Given the description of an element on the screen output the (x, y) to click on. 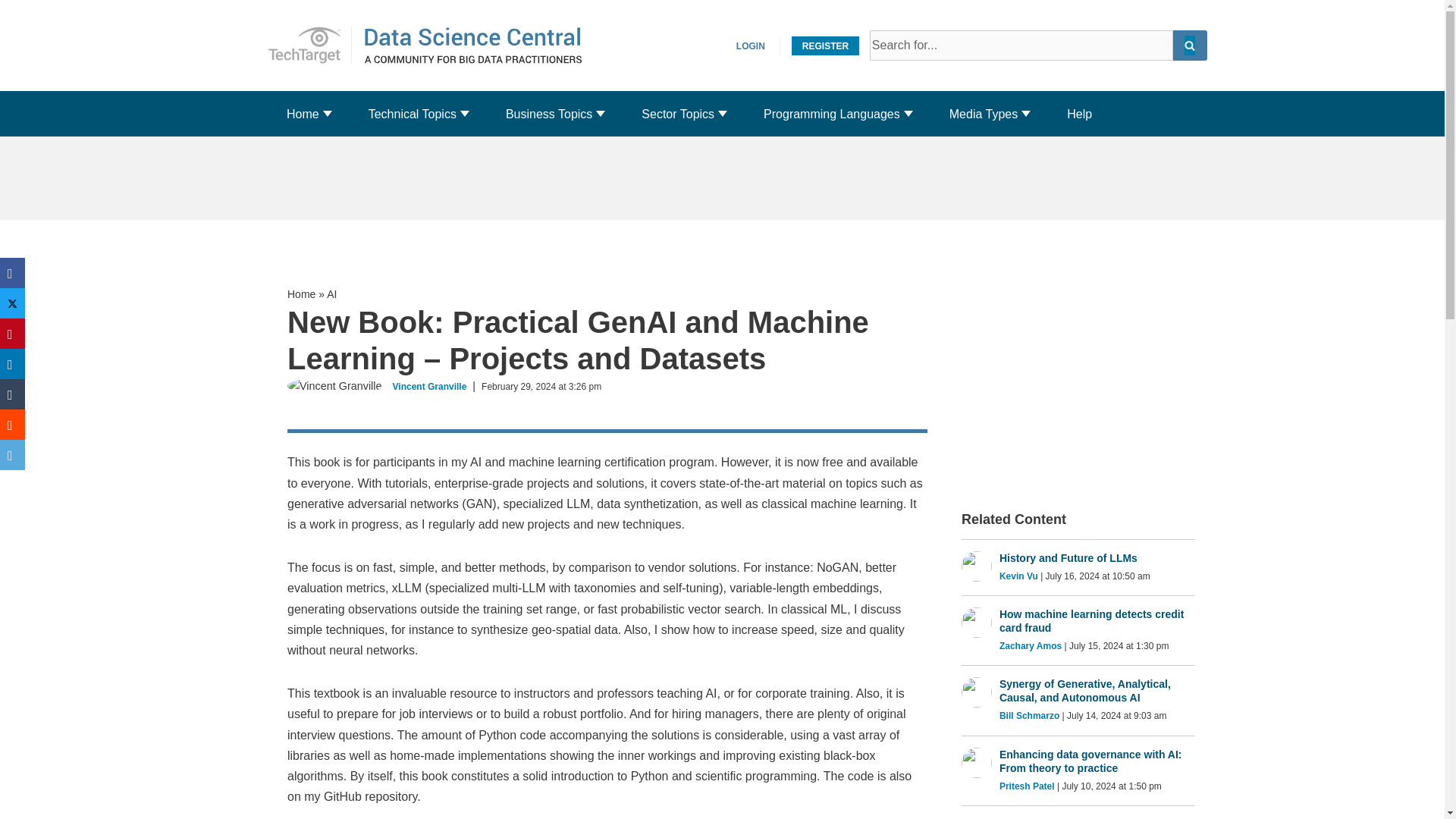
Synergy of Generative, Analytical, Causal, and Autonomous AI (1096, 690)
How machine learning detects credit card fraud (1096, 620)
Home (302, 114)
History and Future of LLMs (1096, 558)
Skip to content (11, 31)
Posts by Vincent Granville (430, 386)
Business Topics (548, 114)
LOGIN (750, 46)
Enhancing data governance with AI: From theory to practice (1096, 760)
Technical Topics (412, 114)
REGISTER (309, 45)
